Given the description of an element on the screen output the (x, y) to click on. 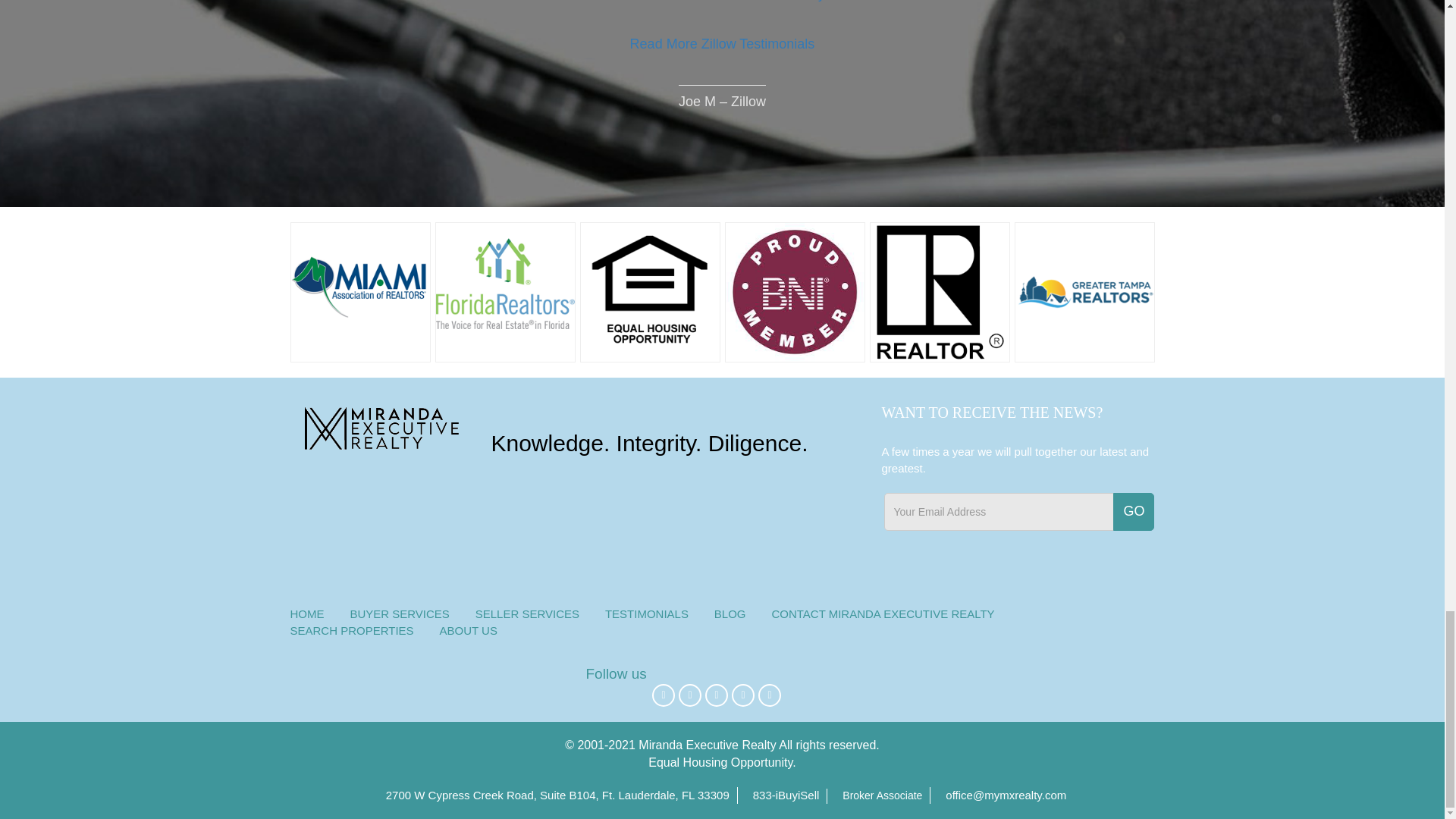
GO (1133, 511)
Email (999, 511)
